Given the description of an element on the screen output the (x, y) to click on. 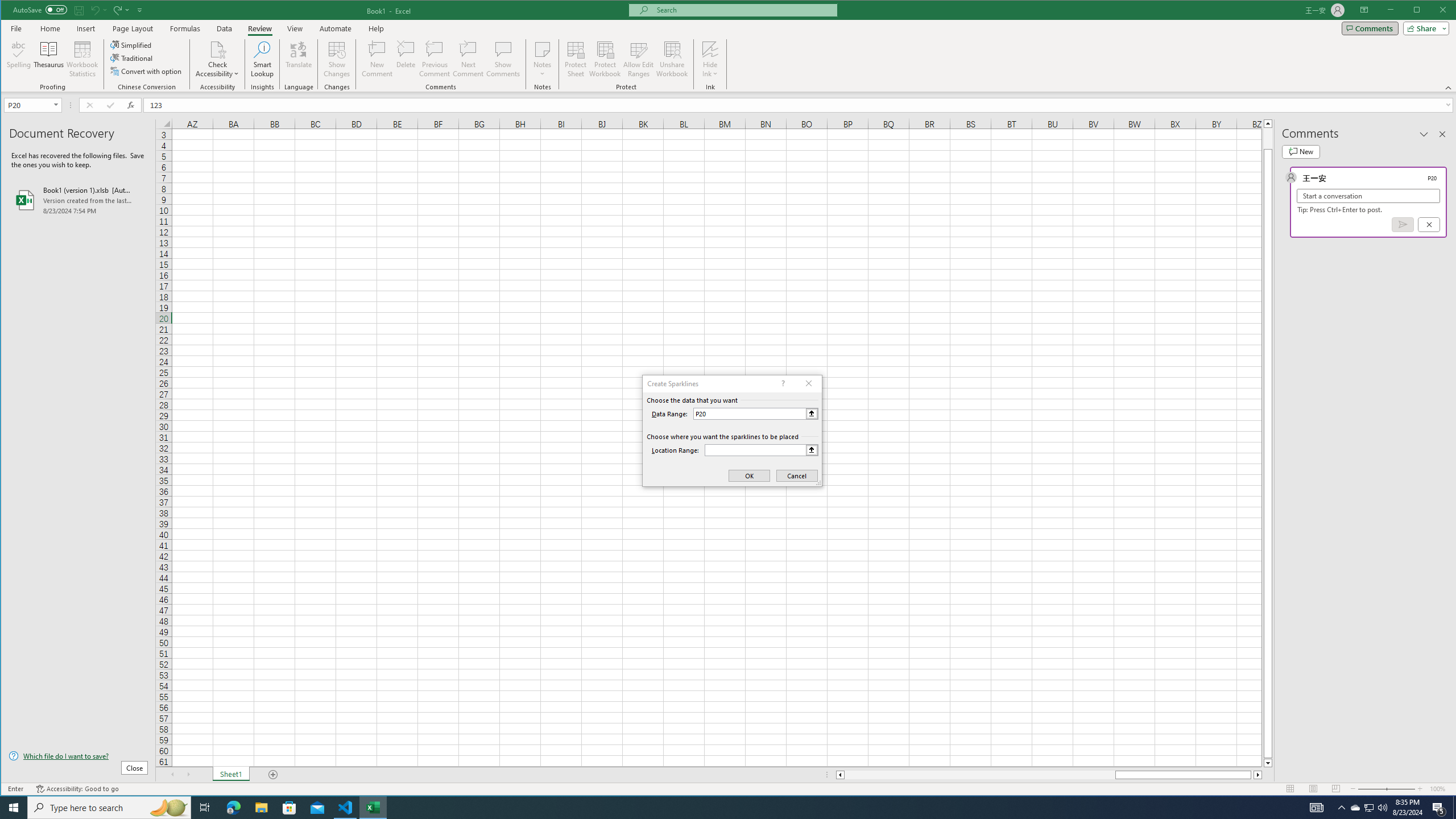
Thesaurus... (48, 59)
Delete (405, 59)
Cancel (1428, 224)
